Given the description of an element on the screen output the (x, y) to click on. 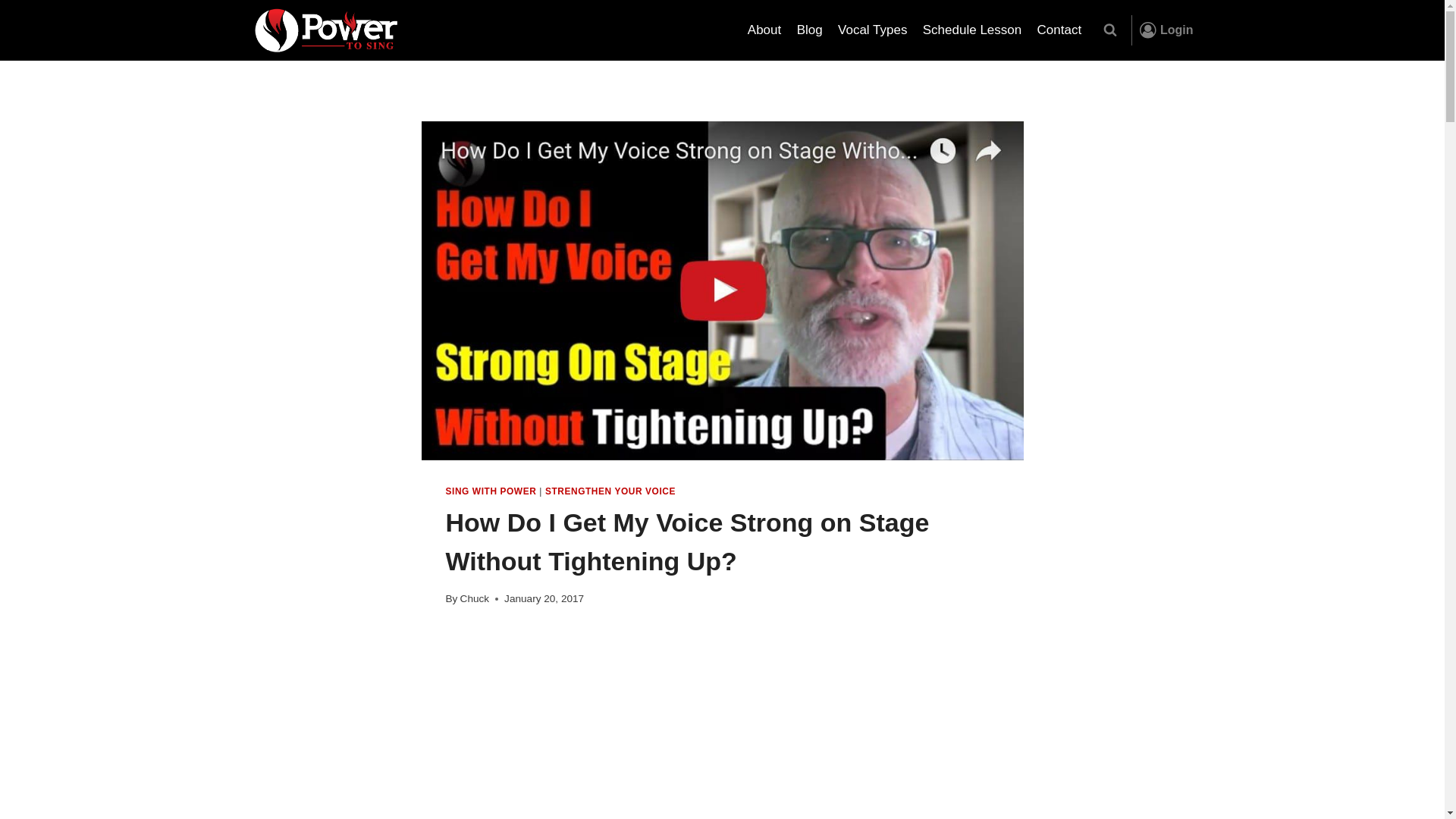
STRENGTHEN YOUR VOICE (609, 491)
Login (1166, 29)
Schedule Lesson (972, 30)
Vocal Types (872, 30)
Contact (1059, 30)
About (764, 30)
Blog (809, 30)
Chuck (474, 598)
How Do I Get My Voice Strong on Stage Without Tightening Up? (721, 725)
SING WITH POWER (491, 491)
